Given the description of an element on the screen output the (x, y) to click on. 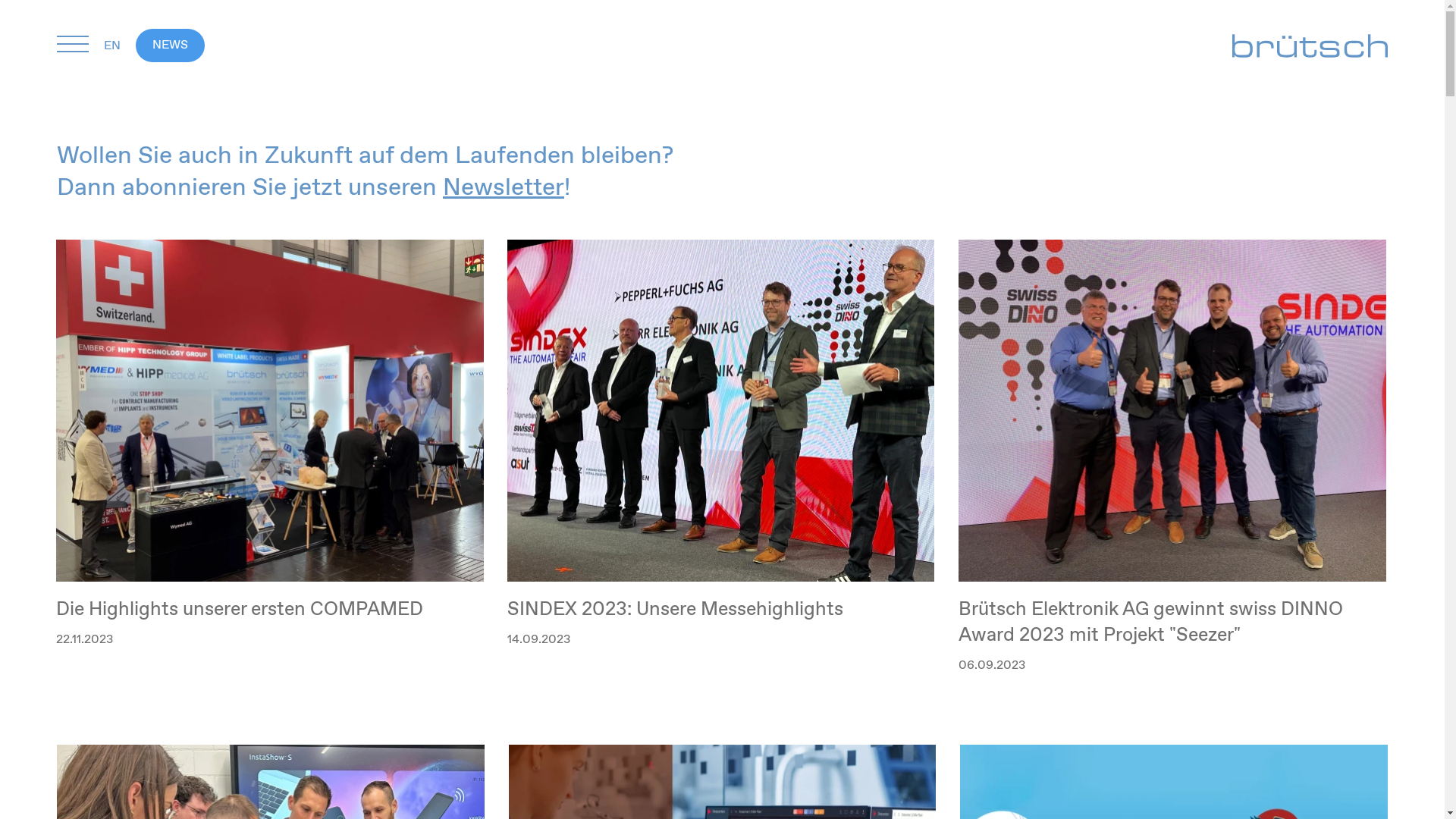
Newsletter Element type: text (503, 187)
EN Element type: text (119, 45)
NEWS Element type: text (169, 45)
